Given the description of an element on the screen output the (x, y) to click on. 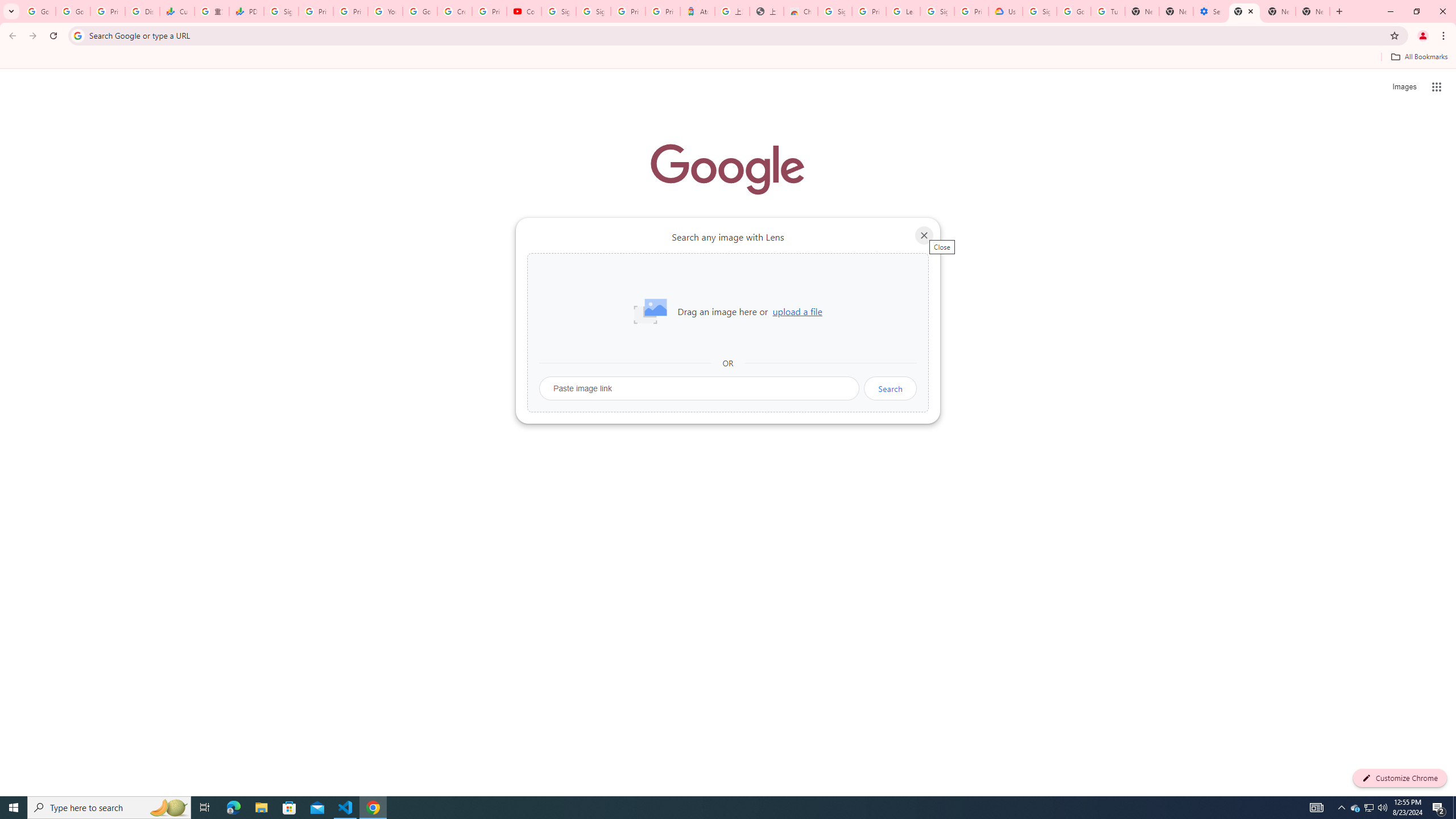
Google Account Help (419, 11)
YouTube (384, 11)
Bookmarks (728, 58)
Sign in - Google Accounts (592, 11)
Google Account Help (1073, 11)
Privacy Checkup (349, 11)
New Tab (1312, 11)
